Given the description of an element on the screen output the (x, y) to click on. 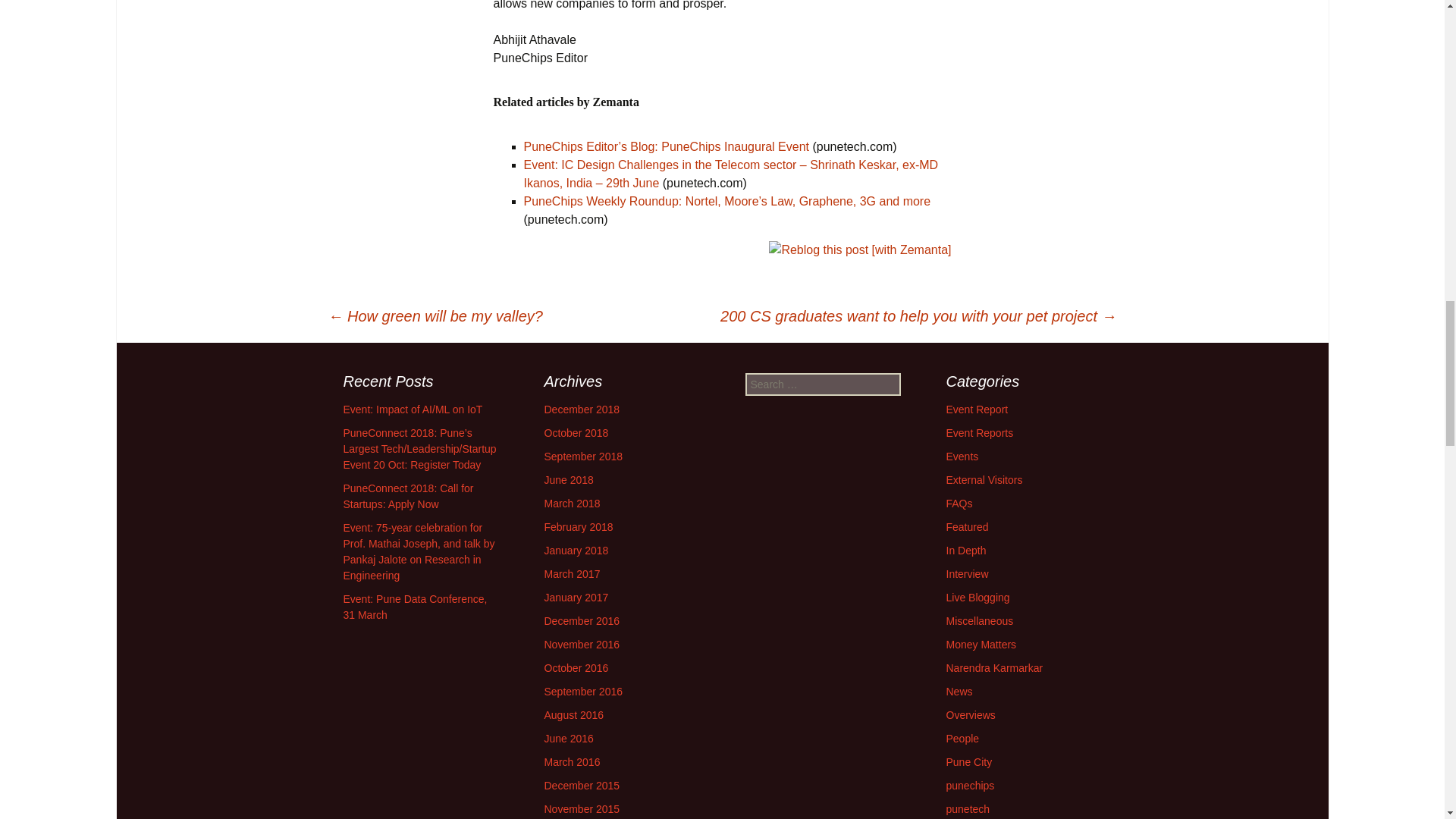
Event: Pune Data Conference, 31 March (414, 606)
March 2018 (571, 503)
February 2018 (578, 526)
December 2018 (582, 409)
January 2018 (576, 550)
September 2018 (583, 456)
June 2018 (569, 480)
October 2018 (576, 432)
PuneConnect 2018: Call for Startups: Apply Now (407, 496)
